Given the description of an element on the screen output the (x, y) to click on. 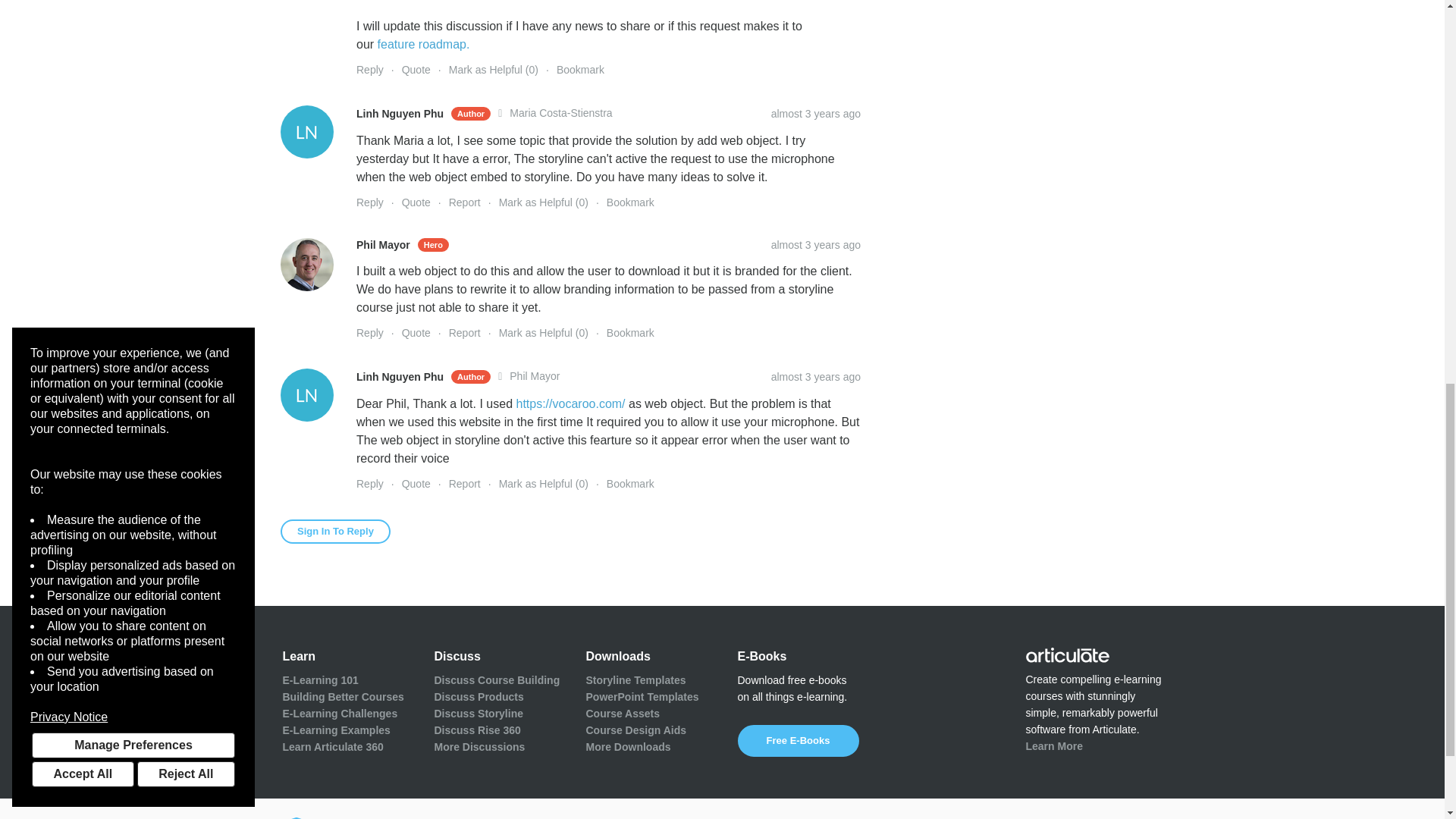
Copy URL to Clipboard (815, 244)
Copy URL to Clipboard (815, 113)
Linh Nguyen Phu (307, 394)
Phil Mayor (307, 264)
Copy URL to Clipboard (815, 377)
Linh Nguyen Phu (307, 131)
